Given the description of an element on the screen output the (x, y) to click on. 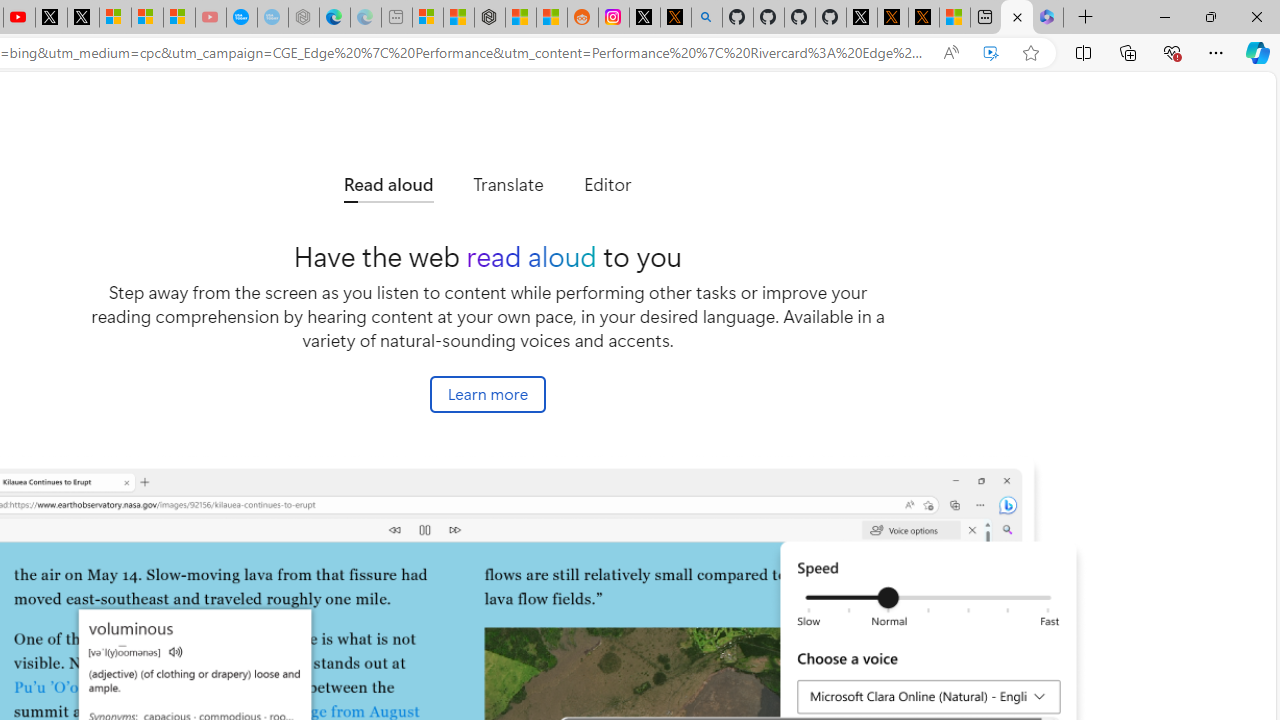
New tab - Sleeping (396, 17)
